Given the description of an element on the screen output the (x, y) to click on. 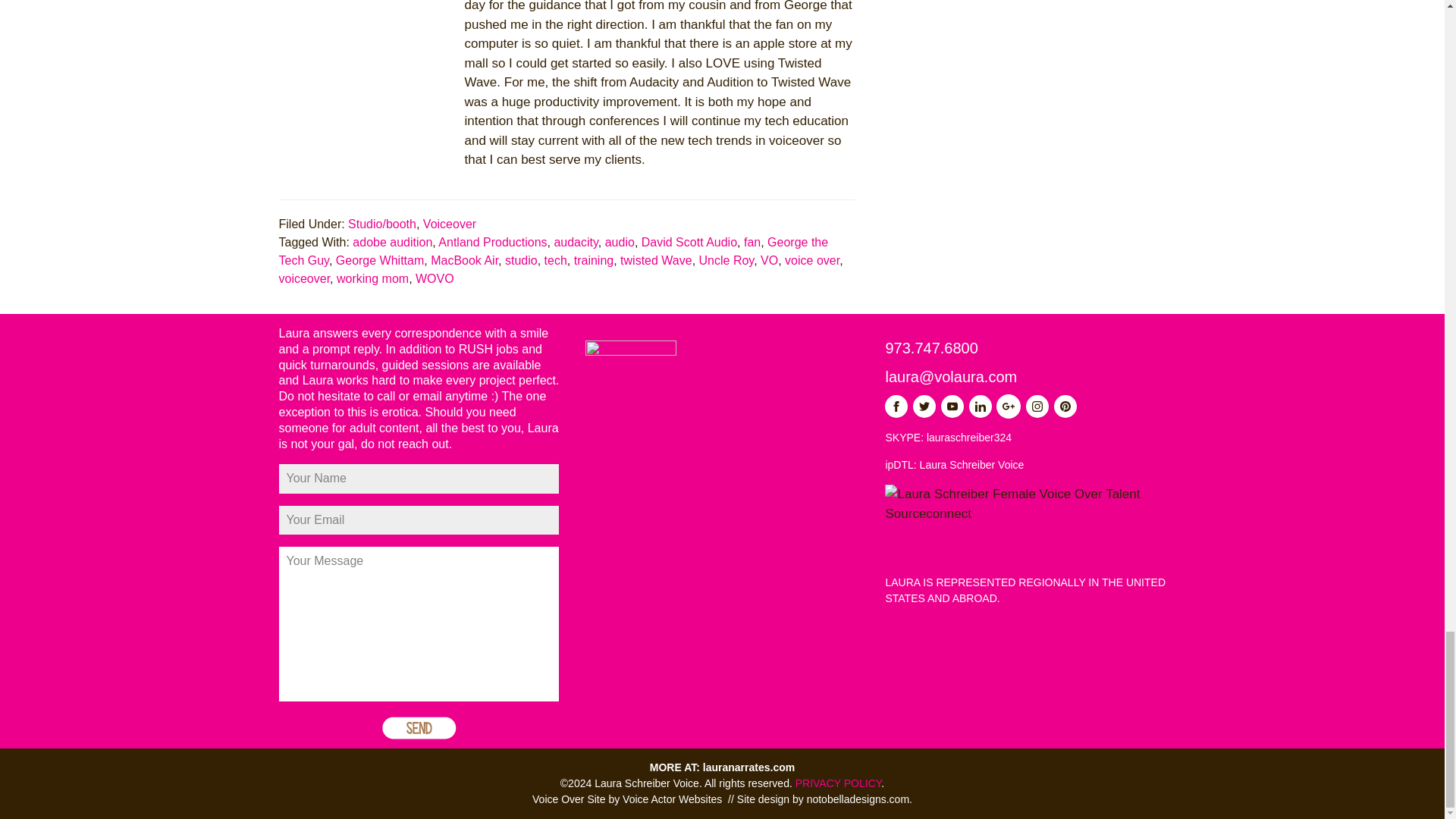
Youtube (951, 405)
facebook (896, 405)
twitter (924, 405)
